Given the description of an element on the screen output the (x, y) to click on. 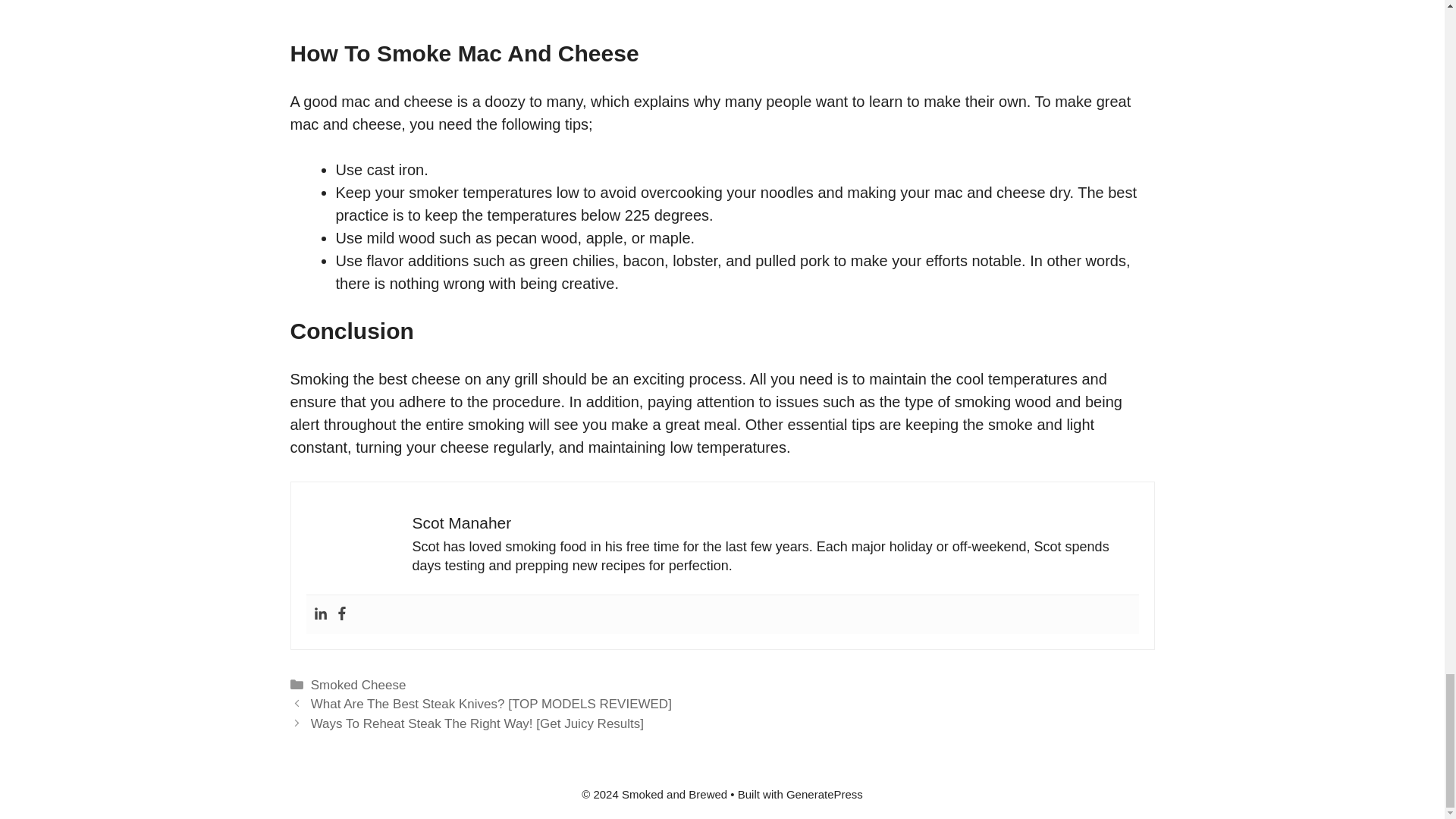
Scot Manaher (462, 522)
GeneratePress (824, 793)
cast iron (395, 169)
cheese tomatoes (722, 8)
Smoked Cheese (358, 685)
